Given the description of an element on the screen output the (x, y) to click on. 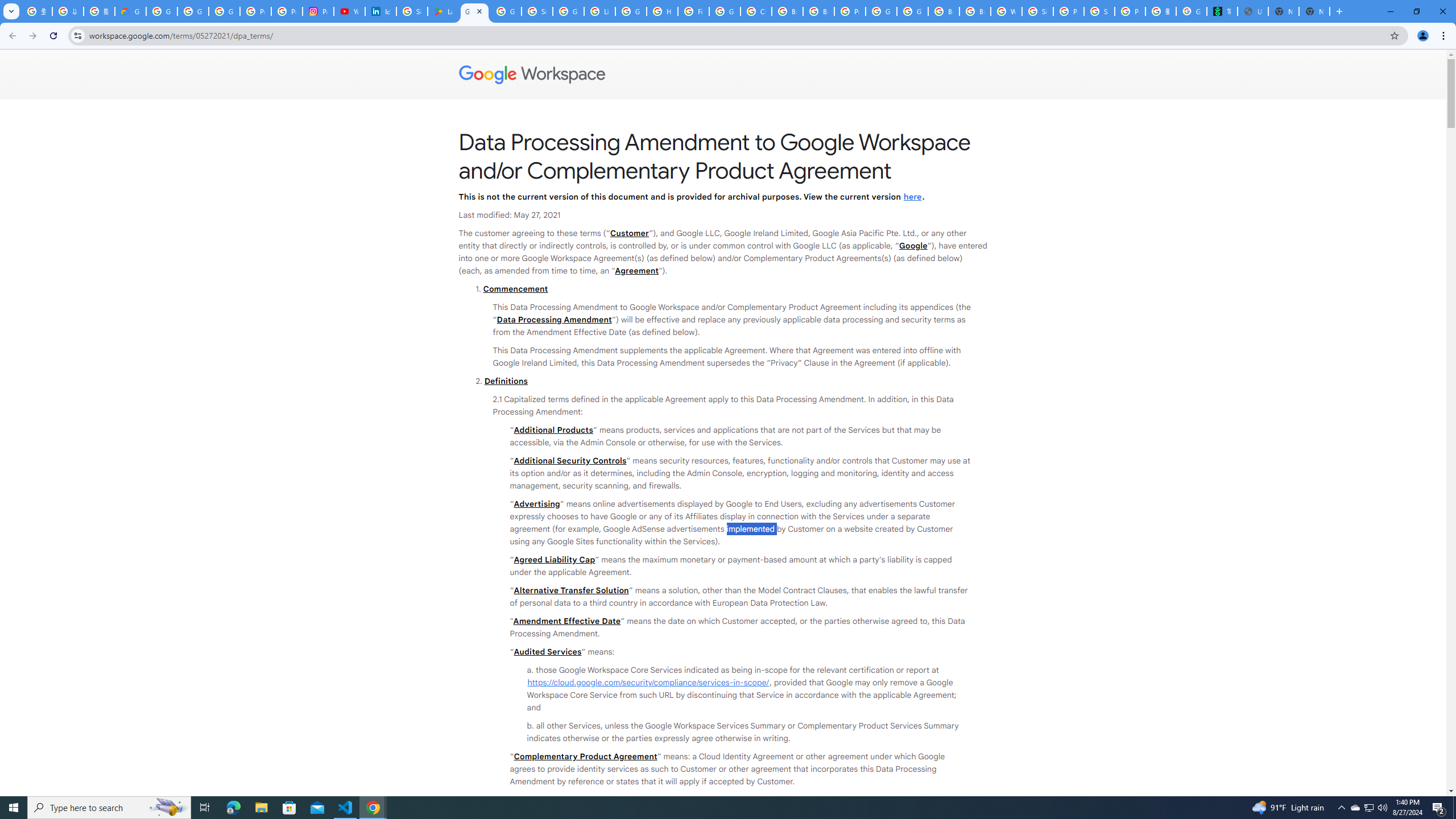
YouTube Culture & Trends - On The Rise: Handcam Videos (349, 11)
How do I create a new Google Account? - Google Account Help (662, 11)
